Given the description of an element on the screen output the (x, y) to click on. 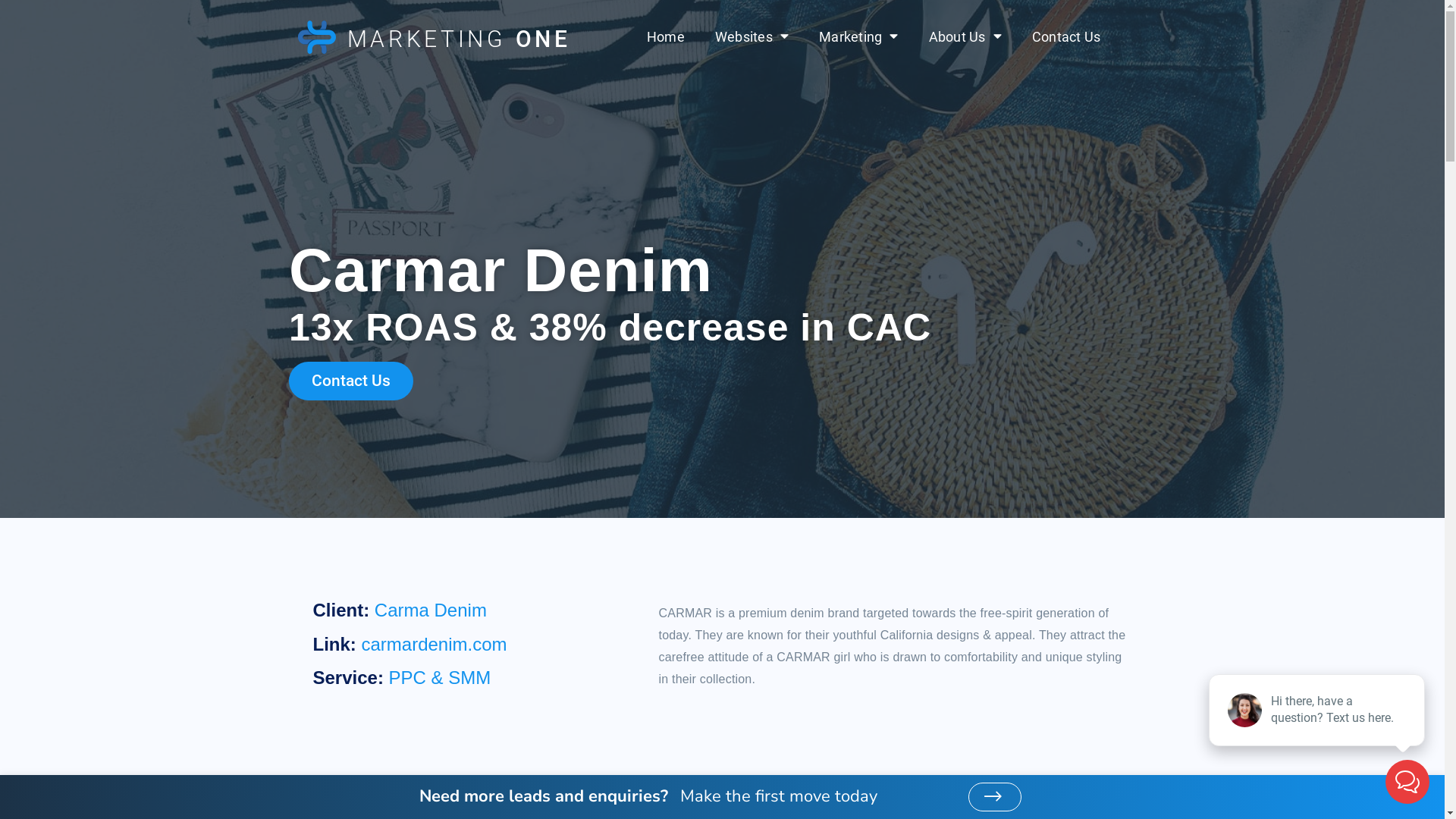
Contact Us Element type: text (1066, 36)
Contact Us Element type: text (350, 380)
Need more leads and enquiries? Make the first move today Element type: text (647, 795)
About Us Element type: text (964, 36)
Marketing Element type: text (858, 36)
Websites Element type: text (751, 36)
MARKETING ONE Element type: text (459, 38)
carmardenim.com Element type: text (433, 643)
Home Element type: text (665, 36)
Carma Denim Element type: text (430, 609)
